Given the description of an element on the screen output the (x, y) to click on. 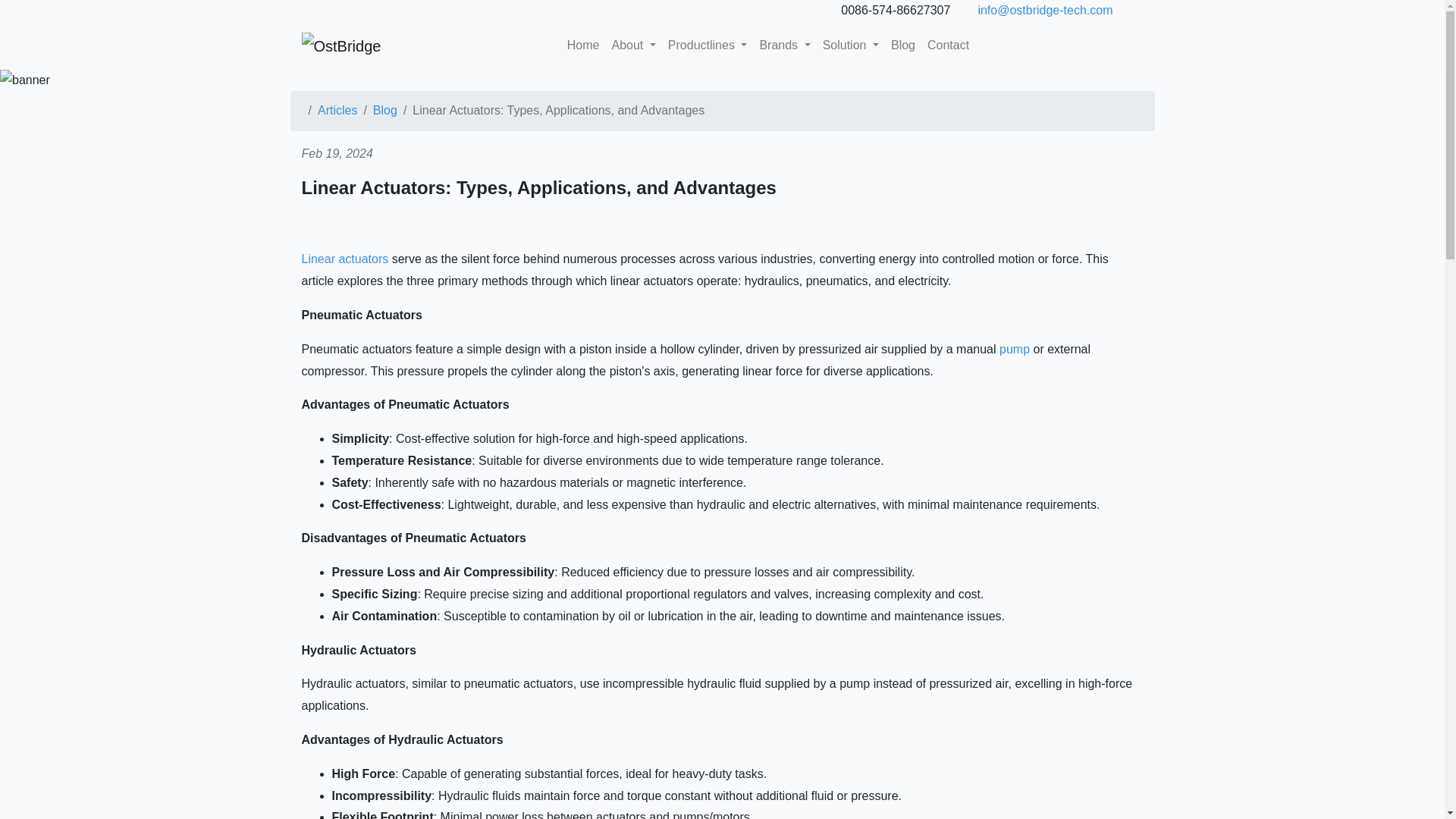
Solution (850, 45)
Productlines (708, 45)
Brands (783, 45)
Home (582, 45)
About (633, 45)
